Given the description of an element on the screen output the (x, y) to click on. 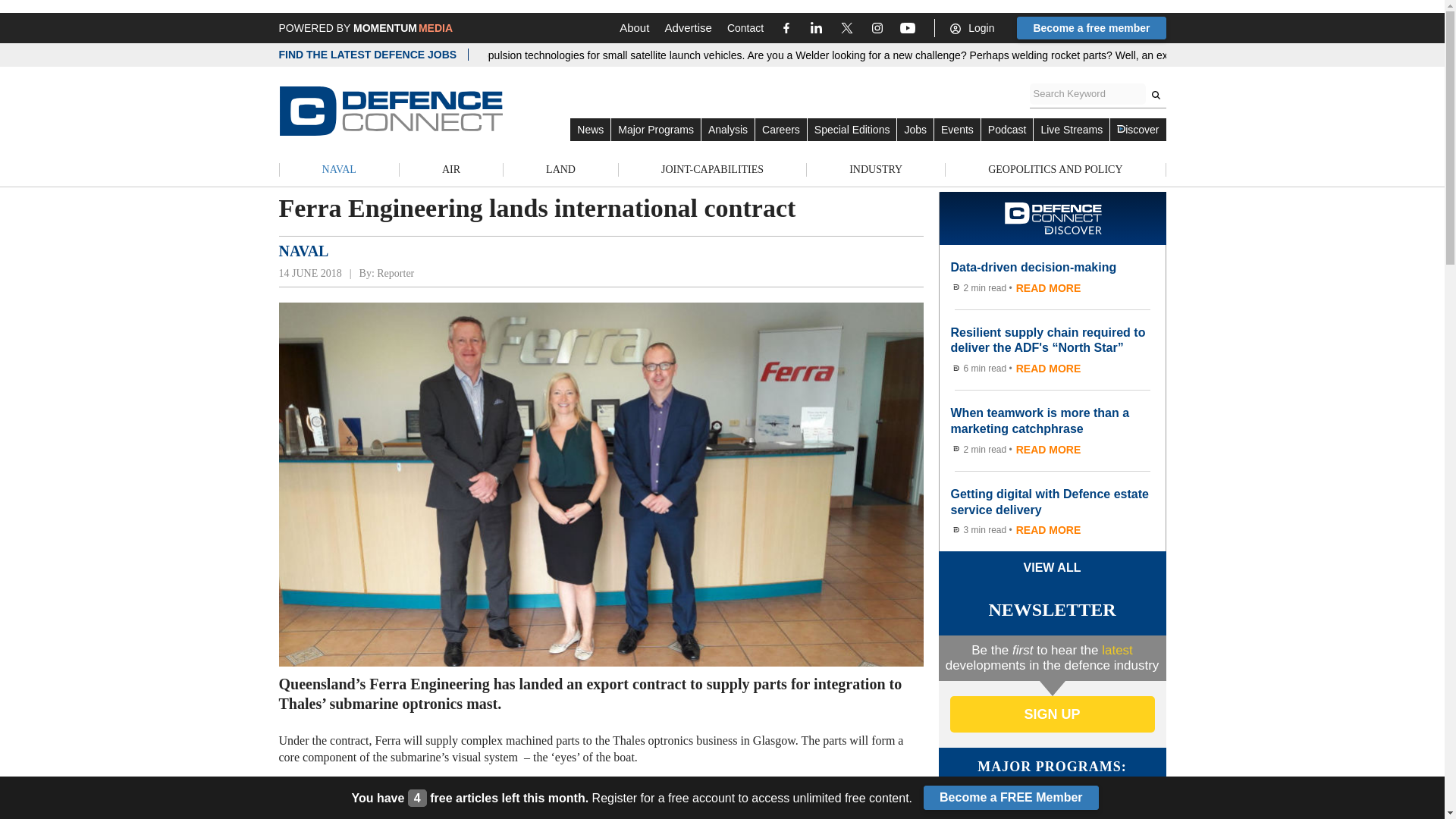
Become a free member (1091, 27)
sign up (1051, 714)
Become a FREE Member (1011, 797)
Become a FREE Member (1011, 797)
